Given the description of an element on the screen output the (x, y) to click on. 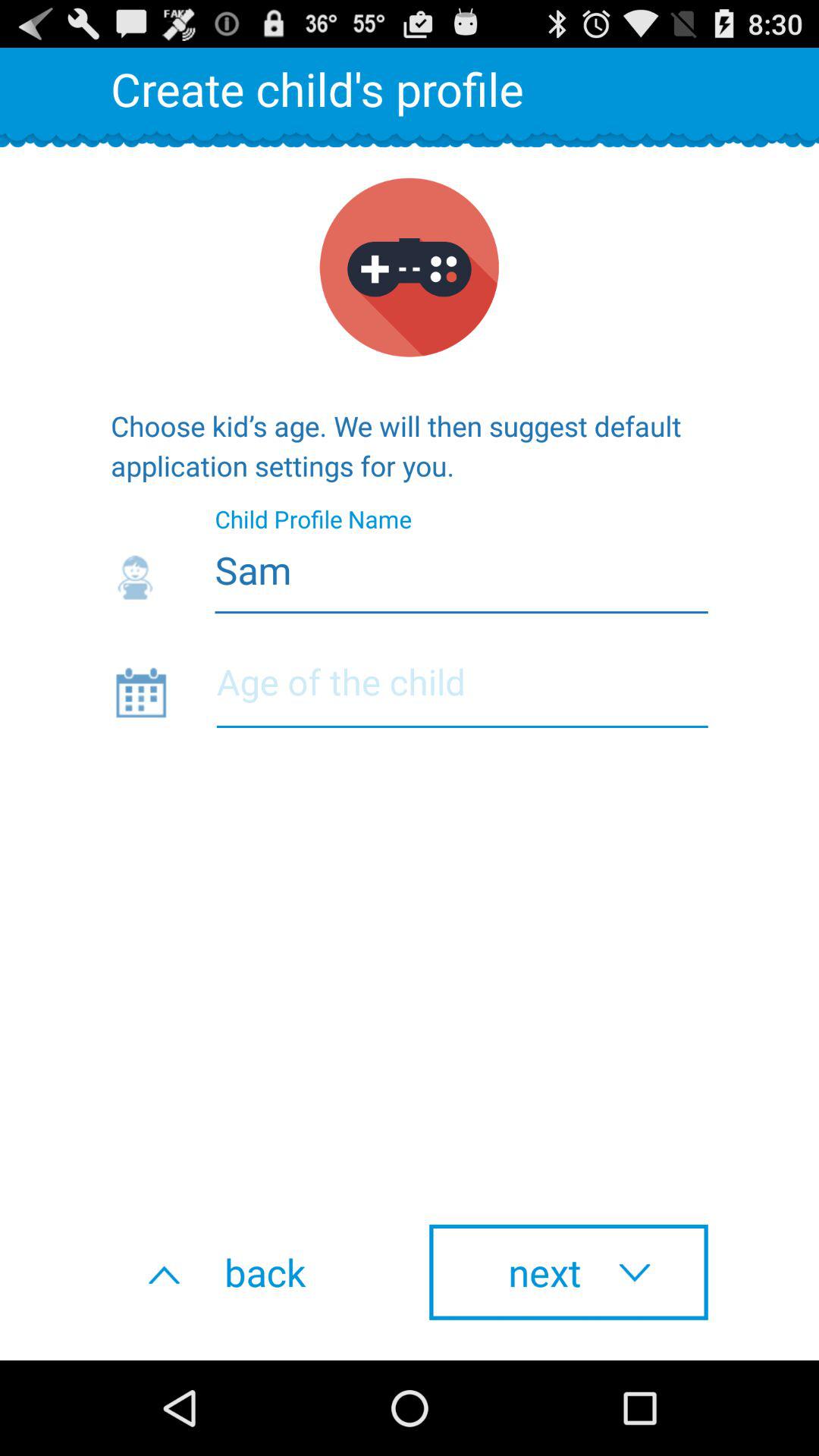
tap the button to the left of the next item (249, 1272)
